Given the description of an element on the screen output the (x, y) to click on. 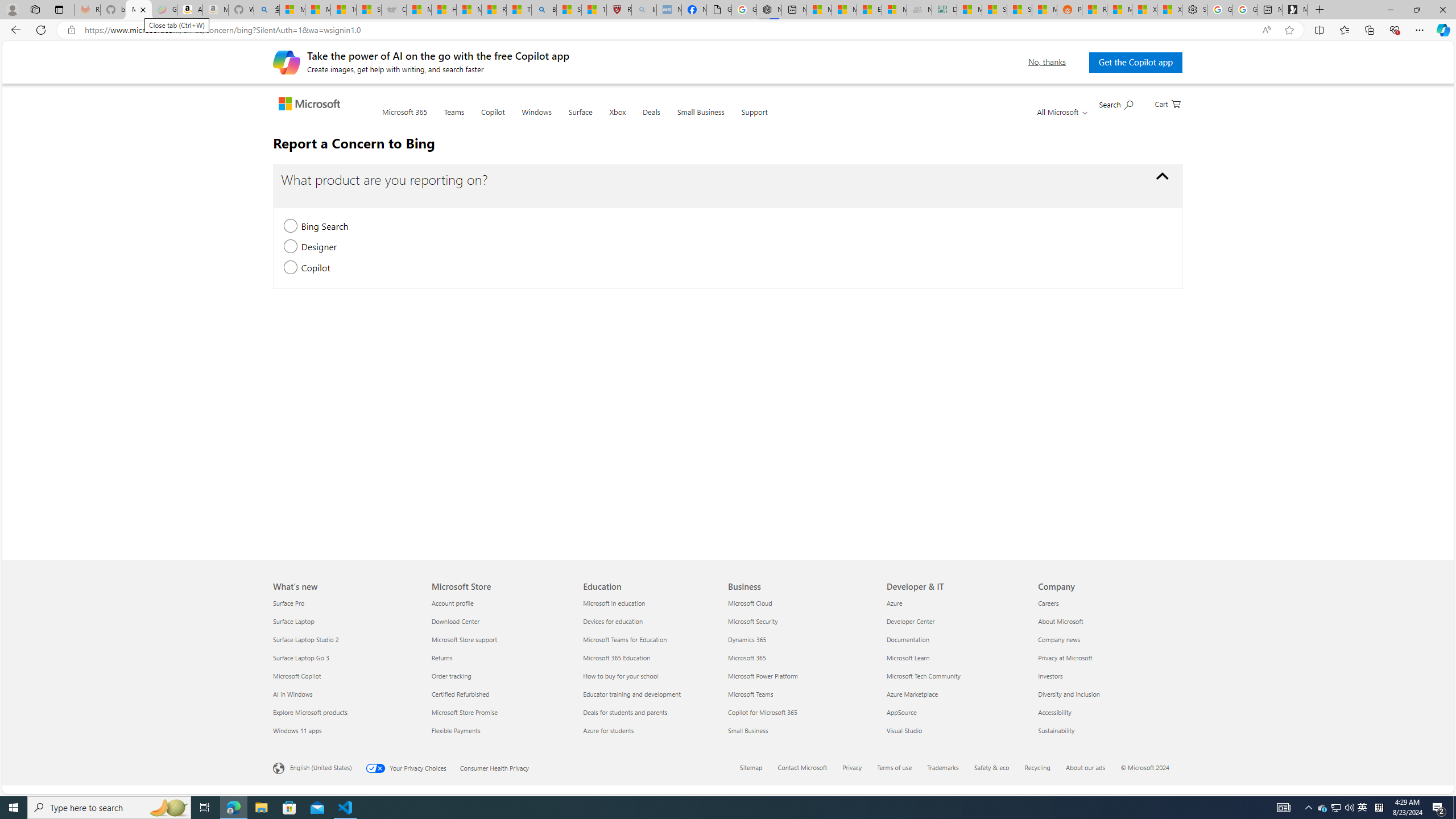
Dynamics 365 (800, 638)
Surface (580, 118)
Copilot (492, 118)
Microsoft 365 Education Education (616, 656)
Microsoft Cloud Business (749, 602)
Get the Copilot app  (1135, 61)
Surface Laptop Go 3 (345, 657)
Microsoft Learn (955, 657)
Careers (1107, 602)
Microsoft Tech Community (955, 675)
Terms of use (894, 766)
Trademarks (943, 766)
